Given the description of an element on the screen output the (x, y) to click on. 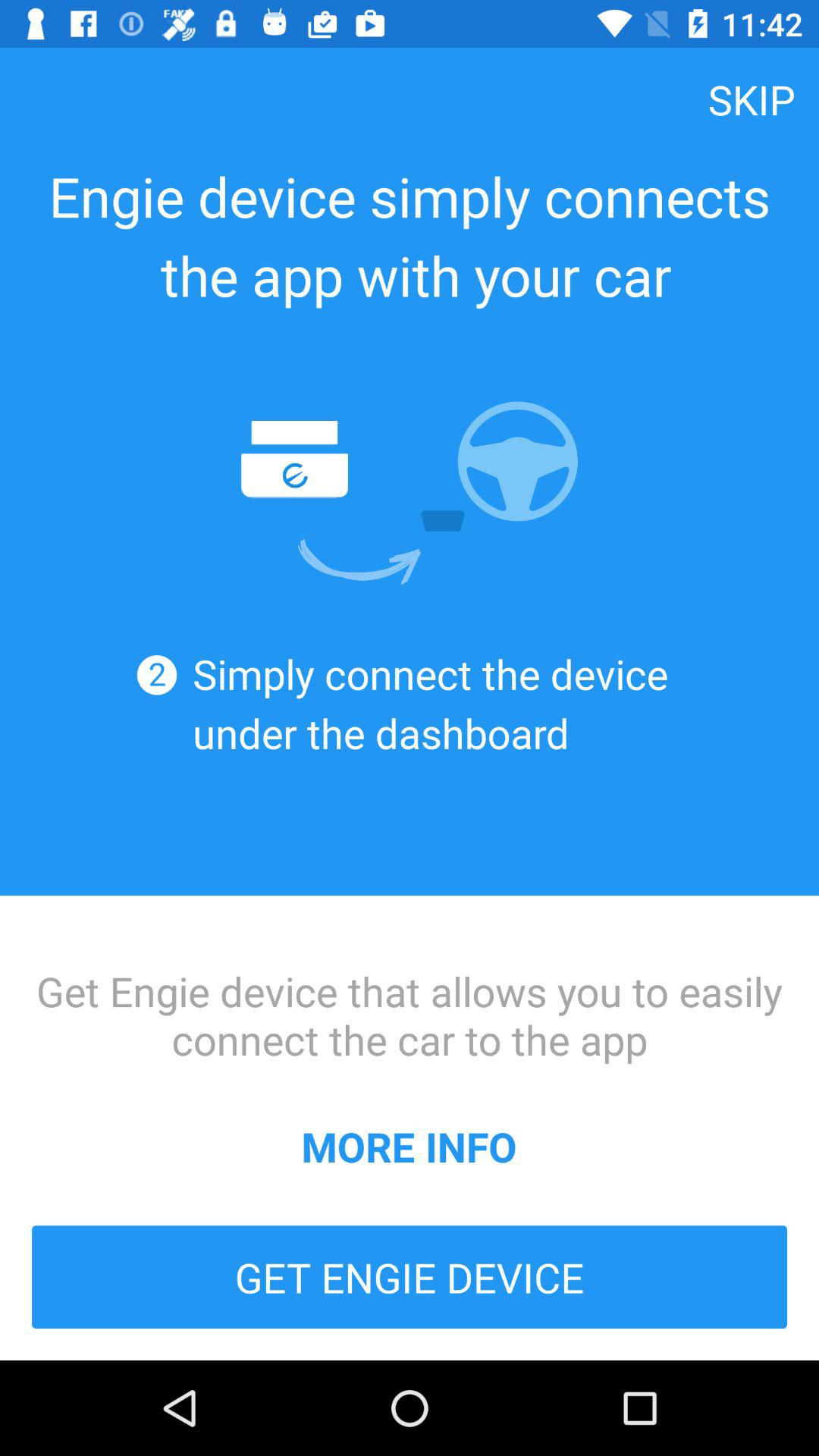
swipe to more info item (408, 1145)
